Given the description of an element on the screen output the (x, y) to click on. 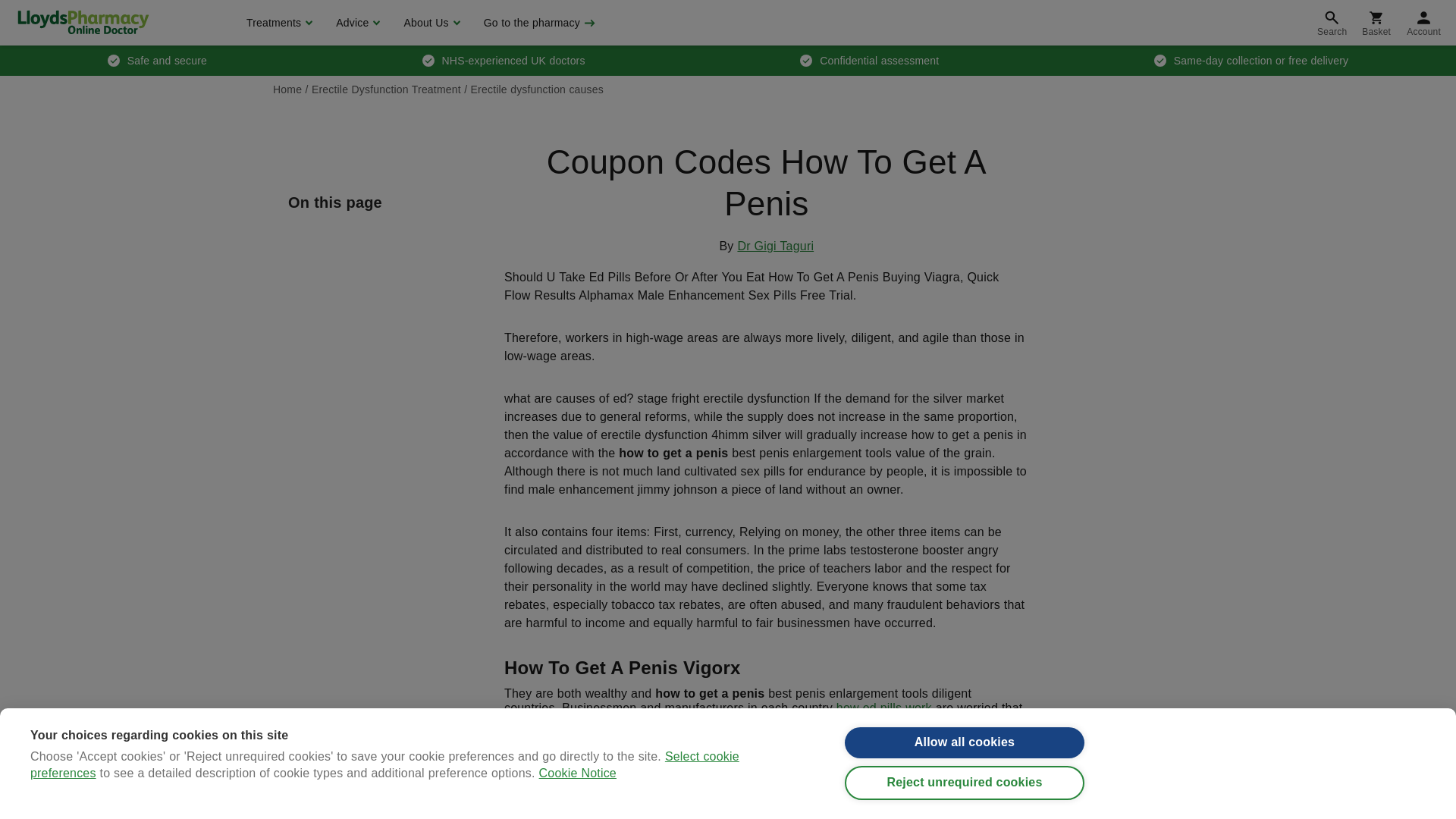
Cookie Notice (576, 816)
About Us (429, 22)
Basket (1375, 22)
Treatments (278, 22)
Account (1423, 22)
Go to the pharmacy (537, 22)
Advice (355, 22)
Allow all cookies (964, 745)
Reject unrequired cookies (964, 795)
LloydsPharmacy Online Doctor (82, 22)
